Given the description of an element on the screen output the (x, y) to click on. 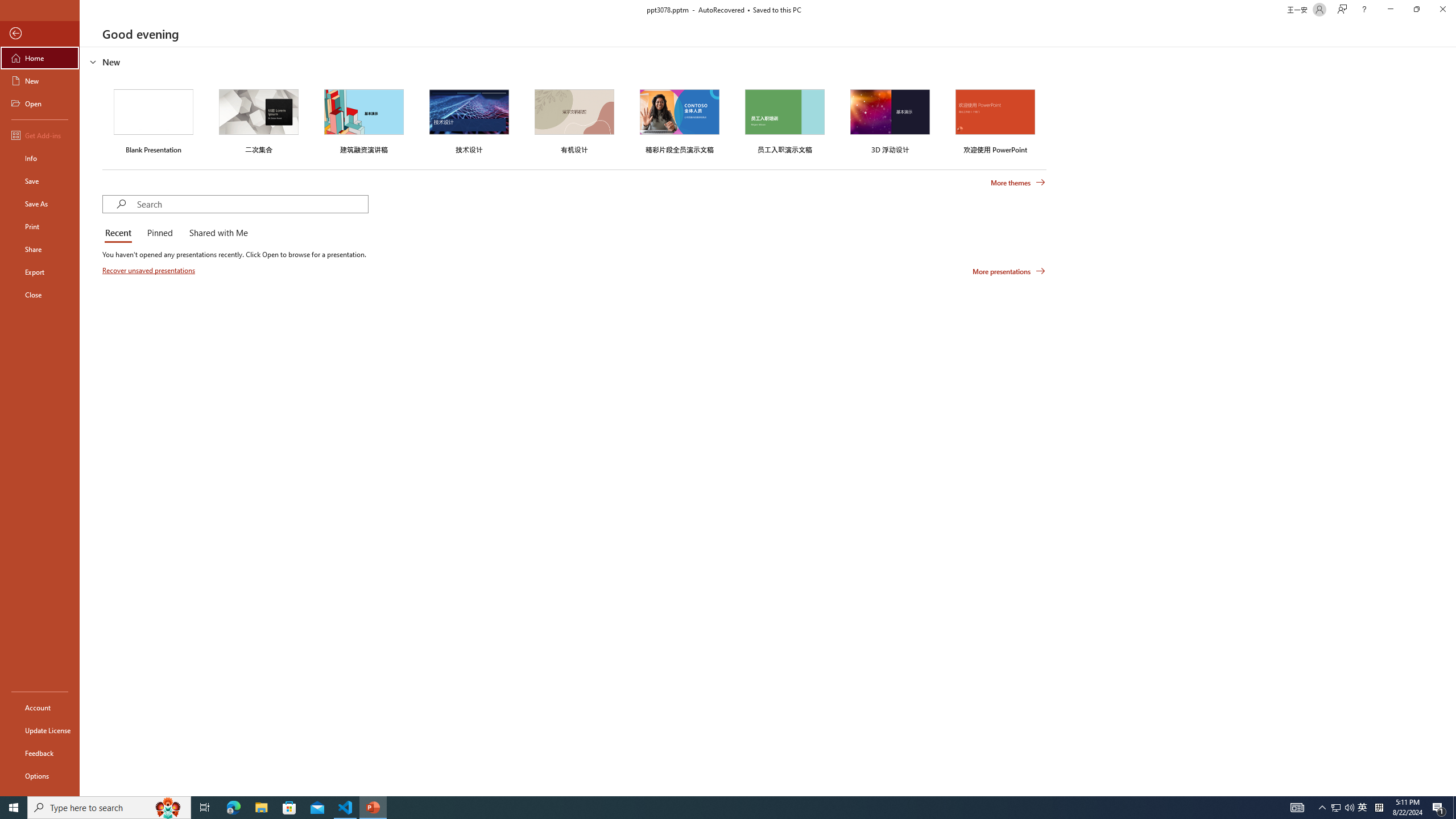
Options (40, 775)
Get Add-ins (40, 134)
Export (40, 271)
Class: NetUIScrollBar (1450, 421)
Print (40, 225)
Shared with Me (215, 233)
Hide or show region (92, 61)
